Given the description of an element on the screen output the (x, y) to click on. 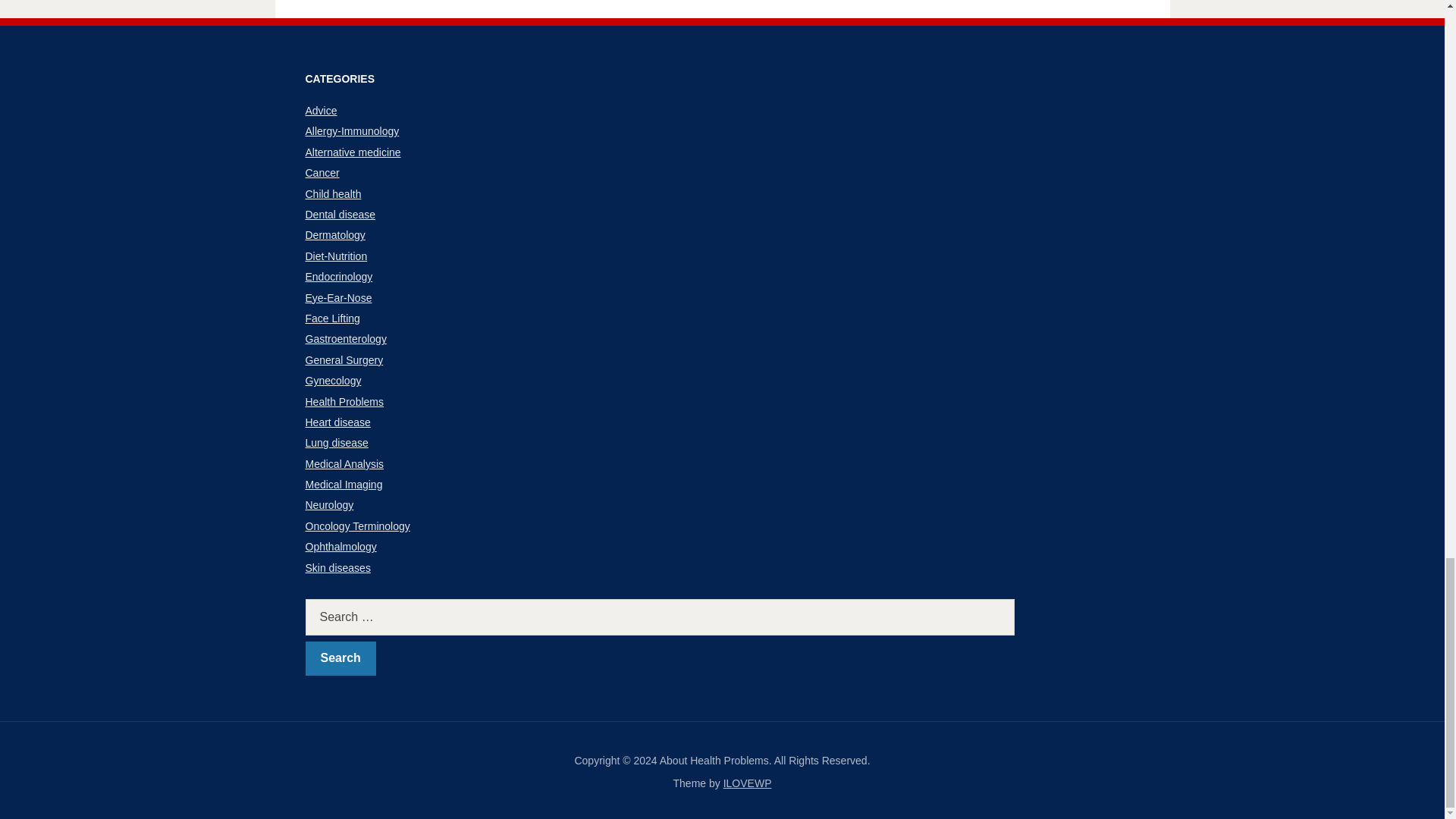
Search (339, 658)
Search (339, 658)
